Given the description of an element on the screen output the (x, y) to click on. 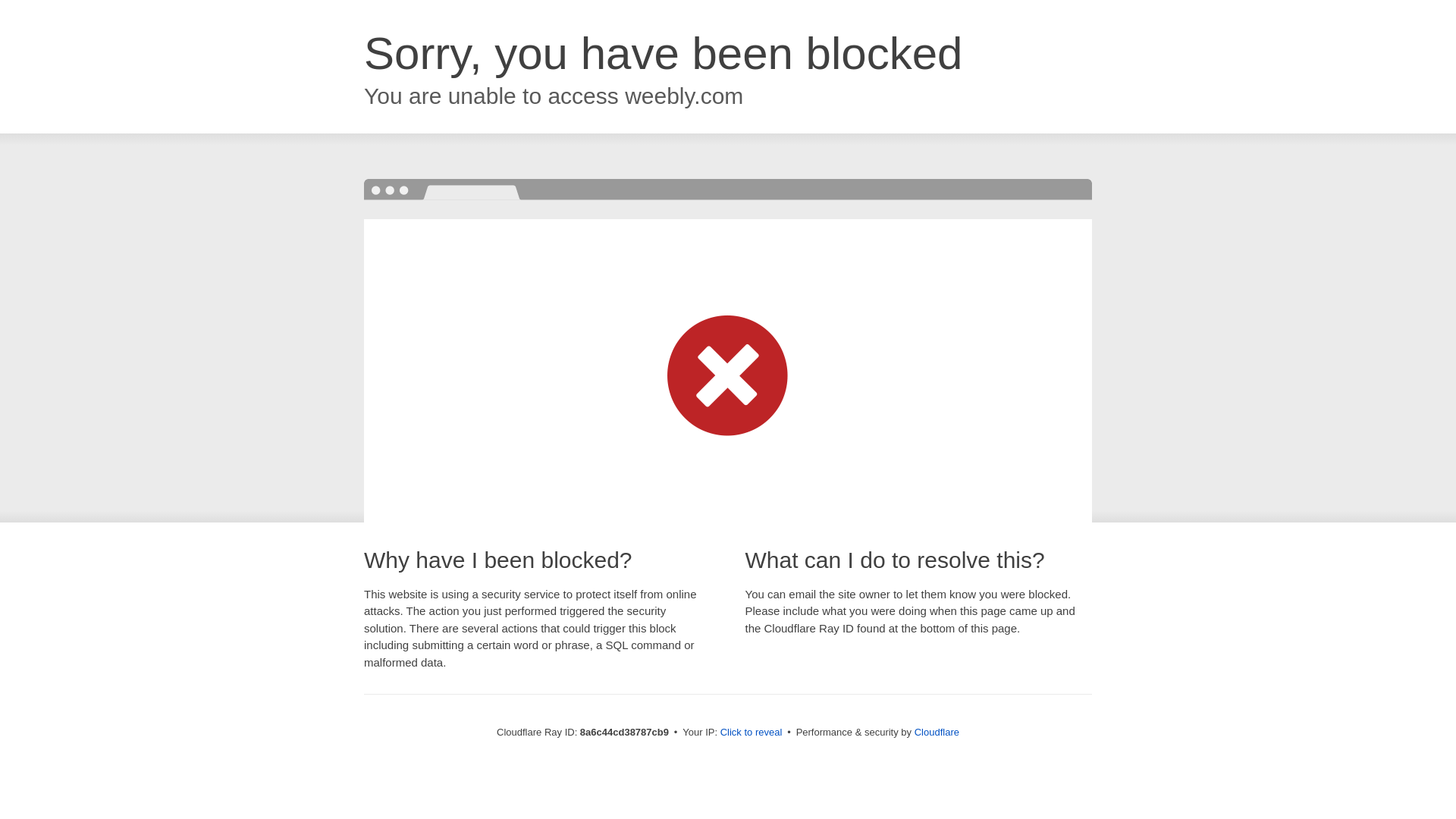
Cloudflare (936, 731)
Click to reveal (751, 732)
